Given the description of an element on the screen output the (x, y) to click on. 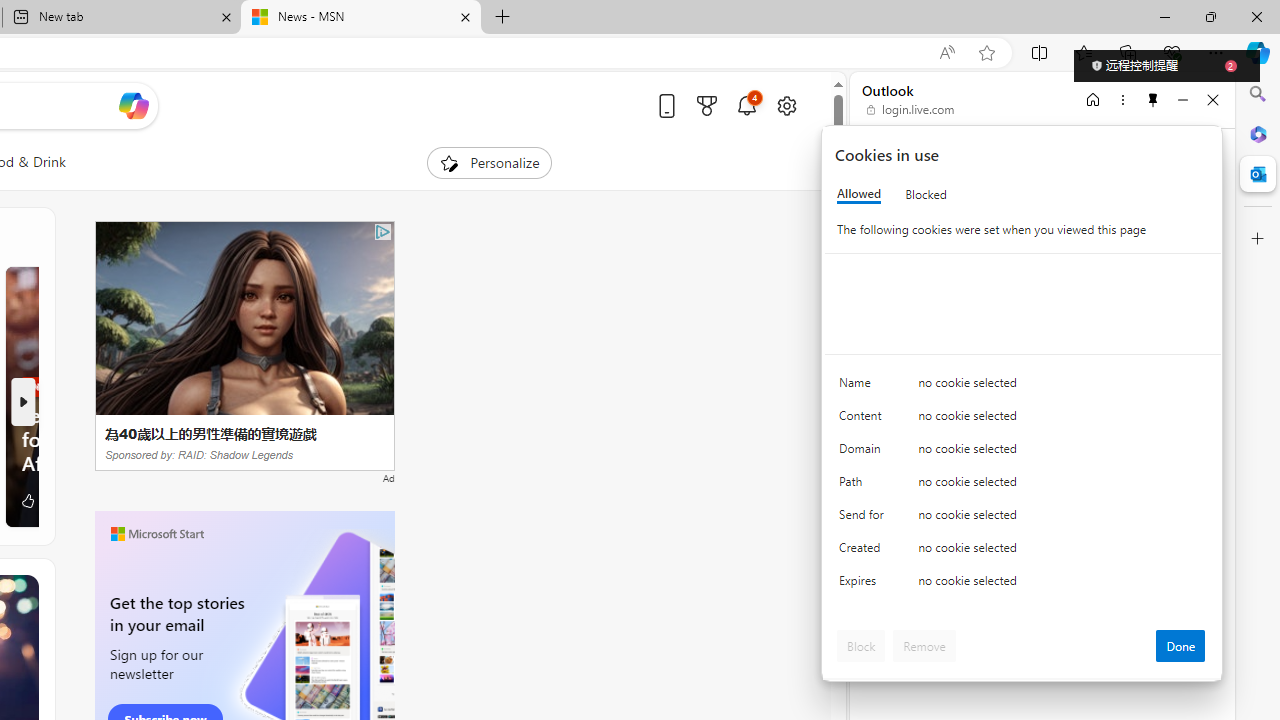
Domain (864, 452)
Class: c0153 c0157 (1023, 584)
Remove (924, 645)
Jennifer Lopez has filed for divorce from Ben Affleck (134, 438)
Expires (864, 585)
